Given the description of an element on the screen output the (x, y) to click on. 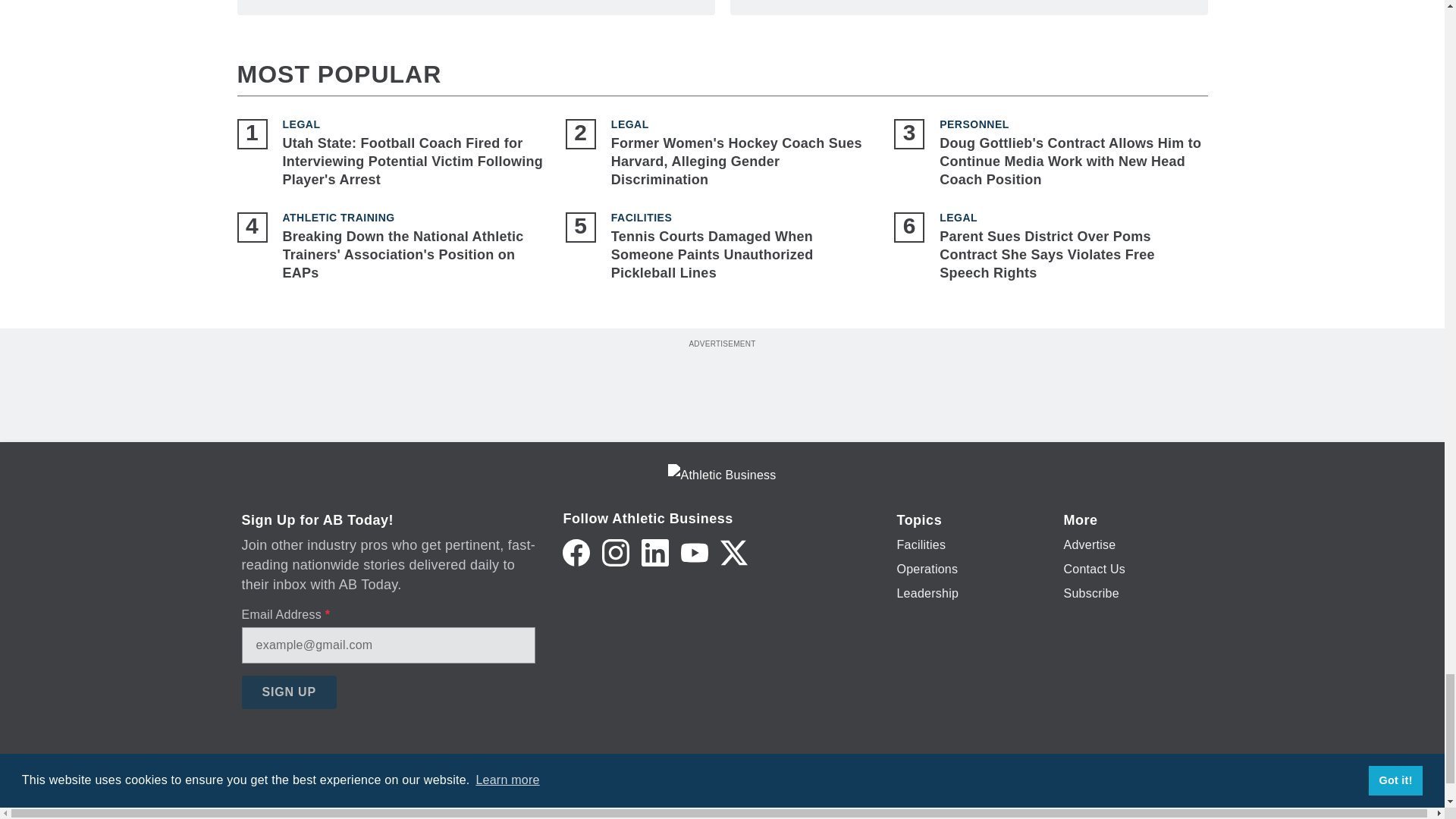
Instagram icon (615, 552)
Twitter X icon (734, 552)
YouTube icon (694, 552)
LinkedIn icon (655, 552)
Facebook icon (575, 552)
